Given the description of an element on the screen output the (x, y) to click on. 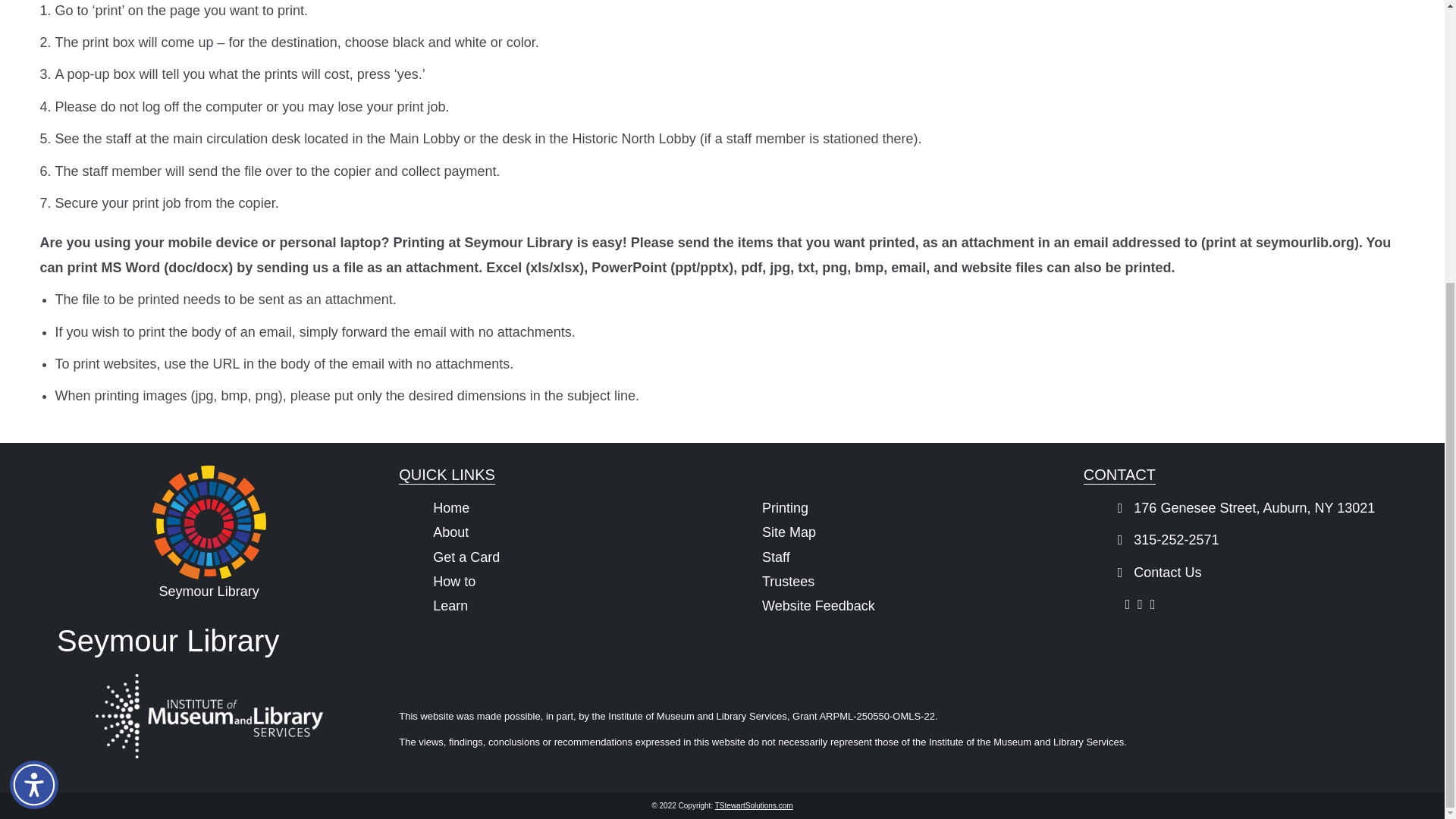
Accessibility Menu (34, 360)
